Given the description of an element on the screen output the (x, y) to click on. 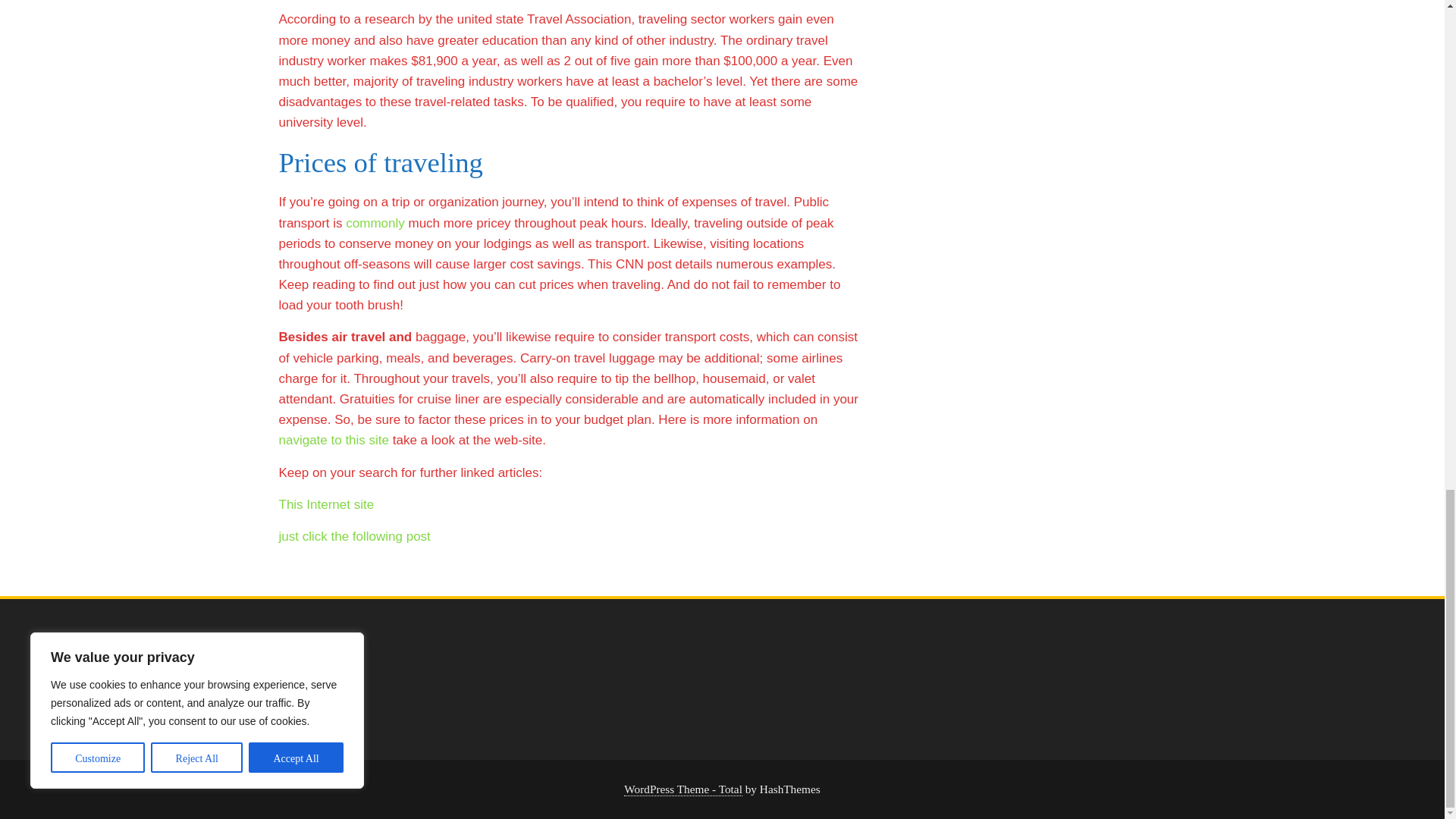
just click the following post (354, 536)
navigate to this site (334, 440)
This Internet site (326, 504)
commonly (375, 223)
